Given the description of an element on the screen output the (x, y) to click on. 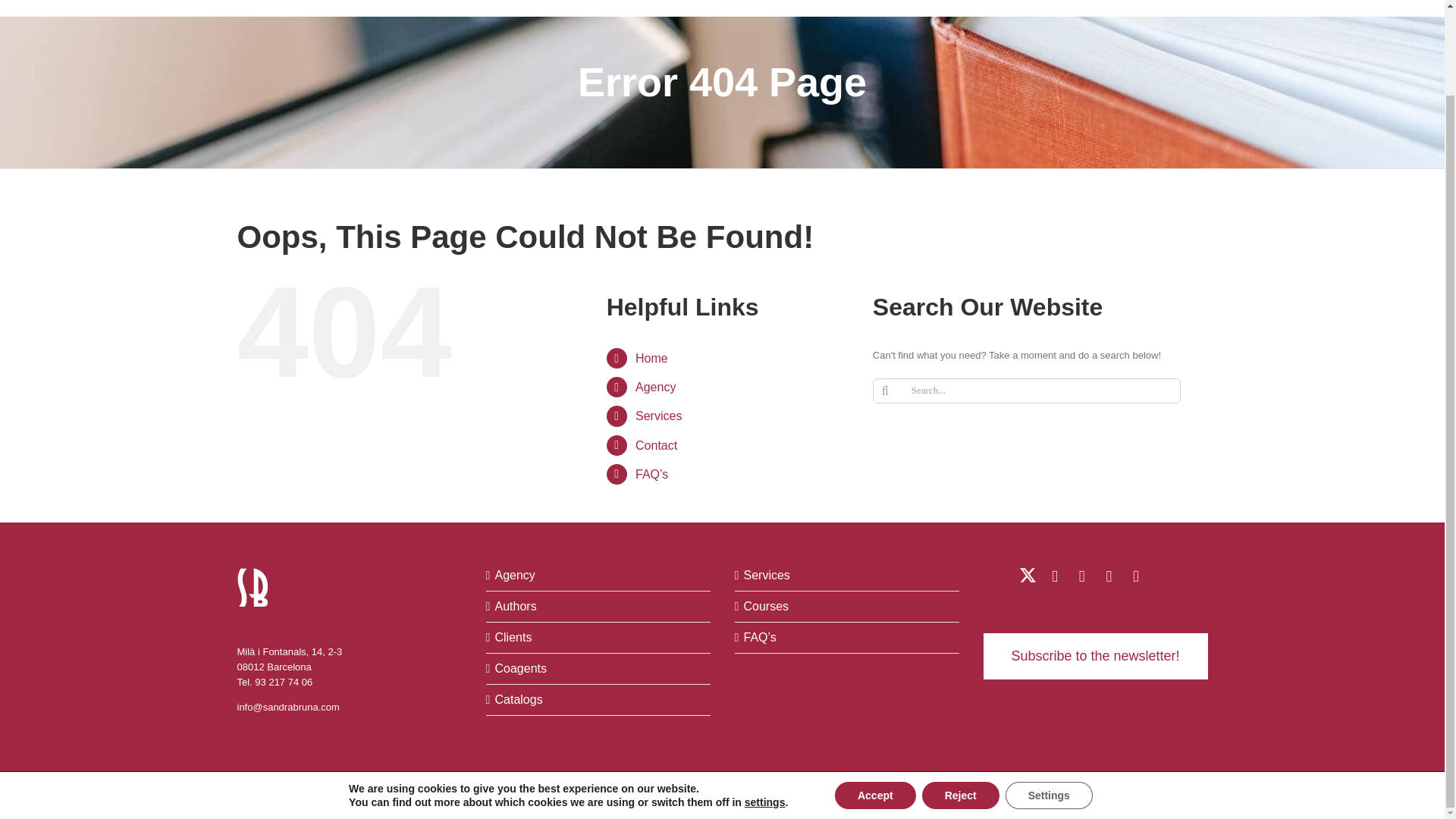
COURSES (983, 7)
COAGENTS (754, 7)
AUTHORS (612, 7)
NEWS (1094, 7)
AGENCY (542, 7)
CLIENTS (681, 7)
SERVICES (908, 7)
CONTACT (1155, 7)
CATALOGS (834, 7)
BLOG (1044, 7)
